Given the description of an element on the screen output the (x, y) to click on. 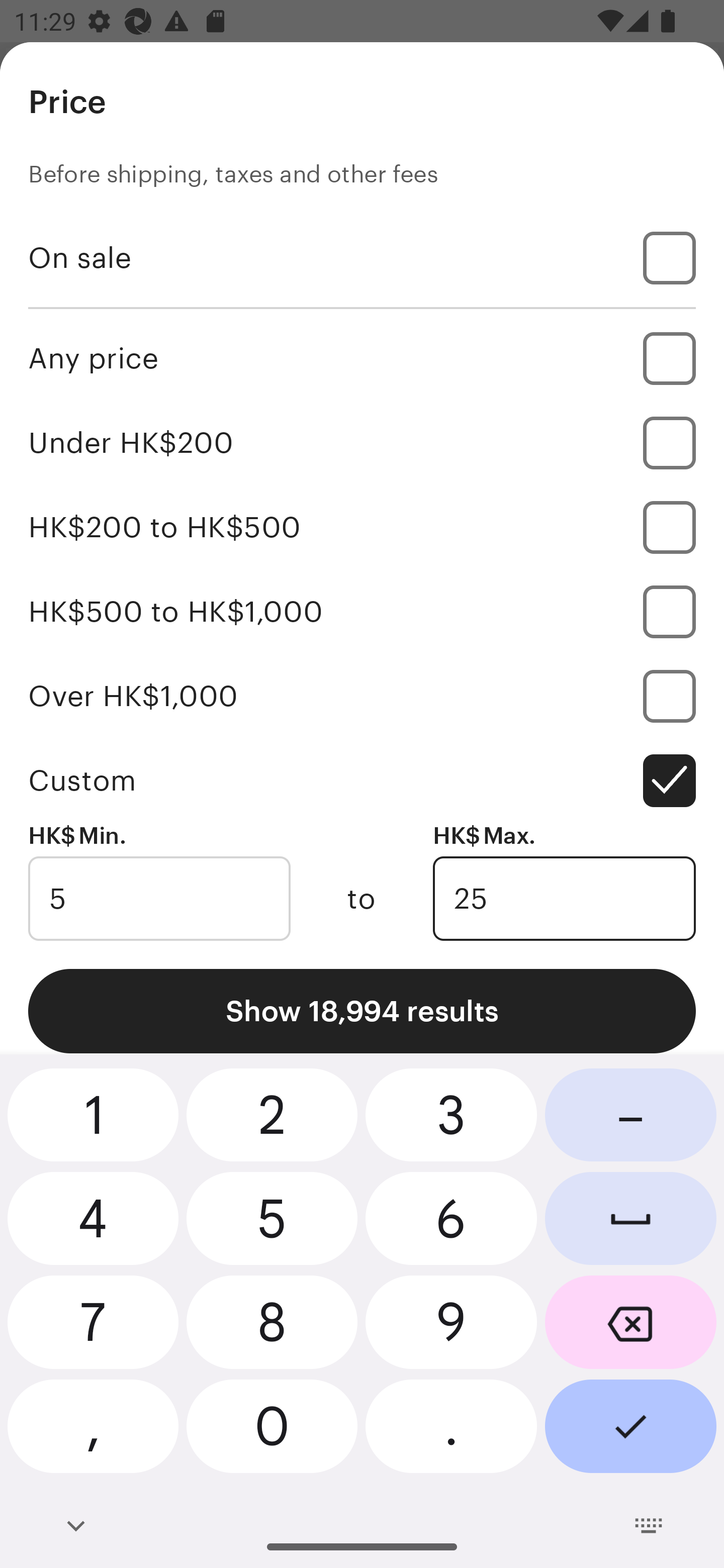
On sale (362, 257)
Any price (362, 357)
Under HK$200 (362, 441)
HK$200 to HK$500 (362, 526)
HK$500 to HK$1,000 (362, 611)
Over HK$1,000 (362, 695)
Custom (362, 780)
5 (159, 898)
25 (563, 898)
Show 18,994 results (361, 1011)
